Given the description of an element on the screen output the (x, y) to click on. 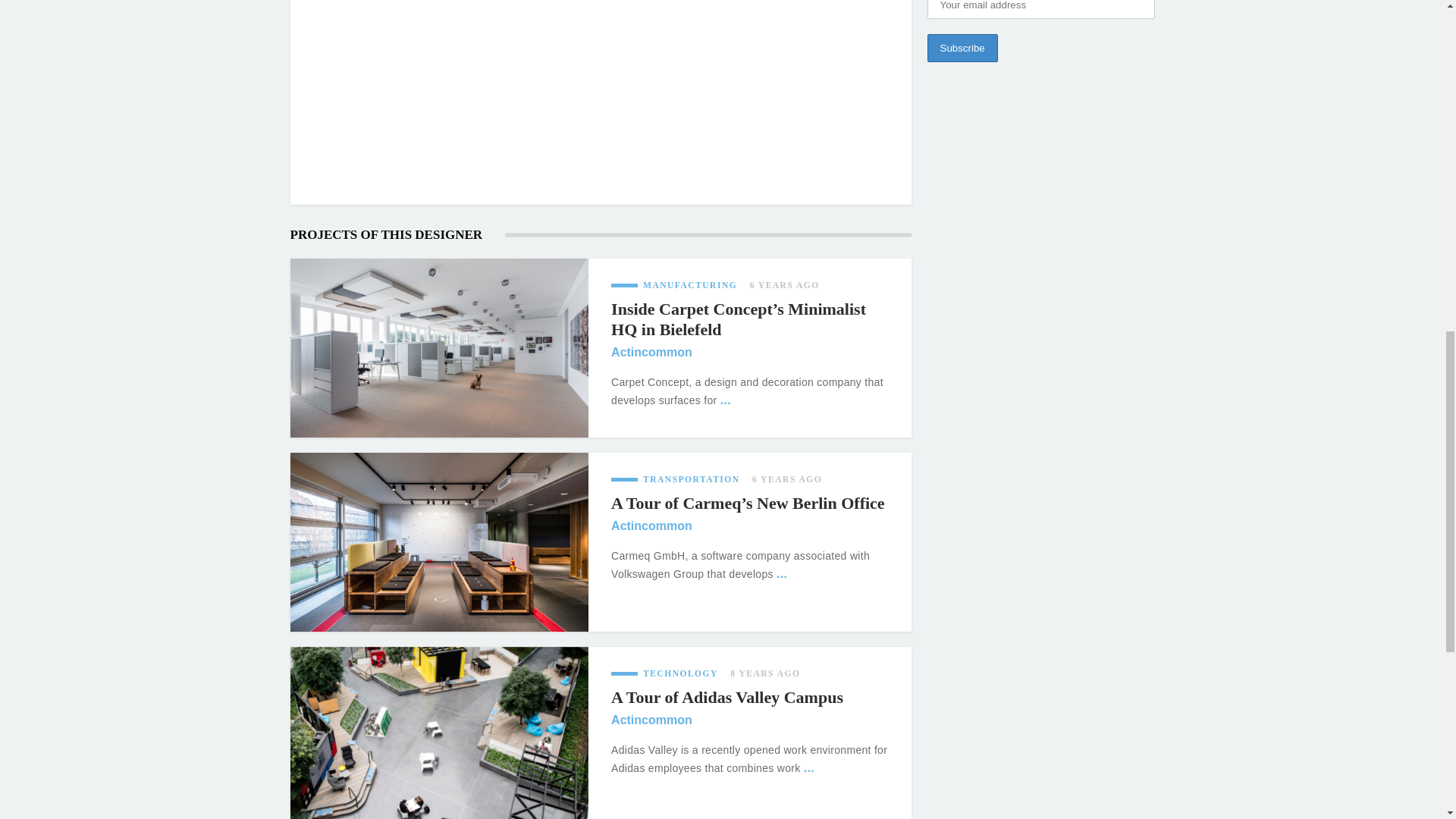
Subscribe (961, 48)
Advertisement (601, 83)
